Given the description of an element on the screen output the (x, y) to click on. 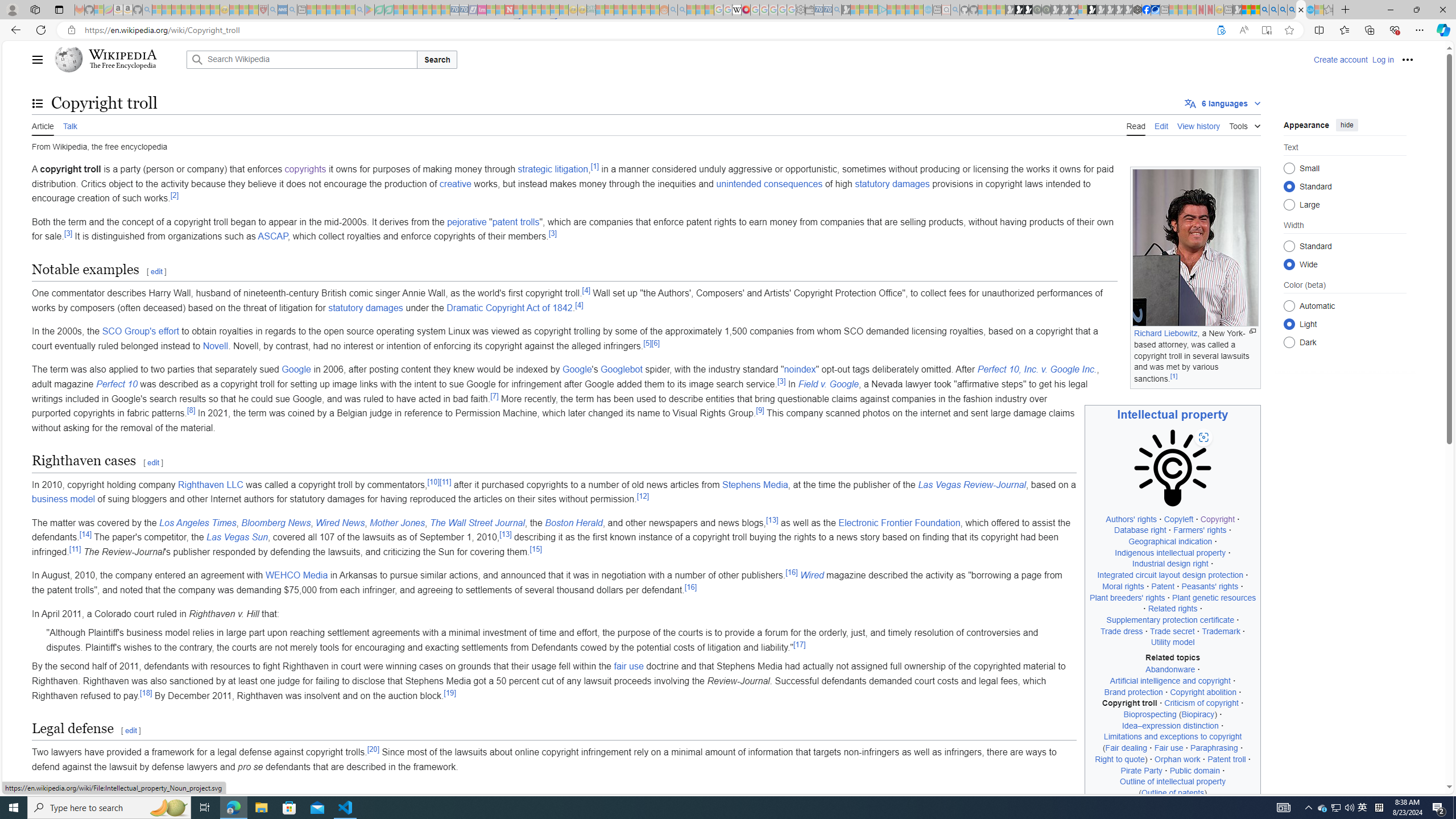
Utility model (1172, 642)
Bing AI - Search (1264, 9)
Small (1289, 167)
Limitations and exceptions to copyright (1172, 737)
Las Vegas Sun (236, 537)
